Given the description of an element on the screen output the (x, y) to click on. 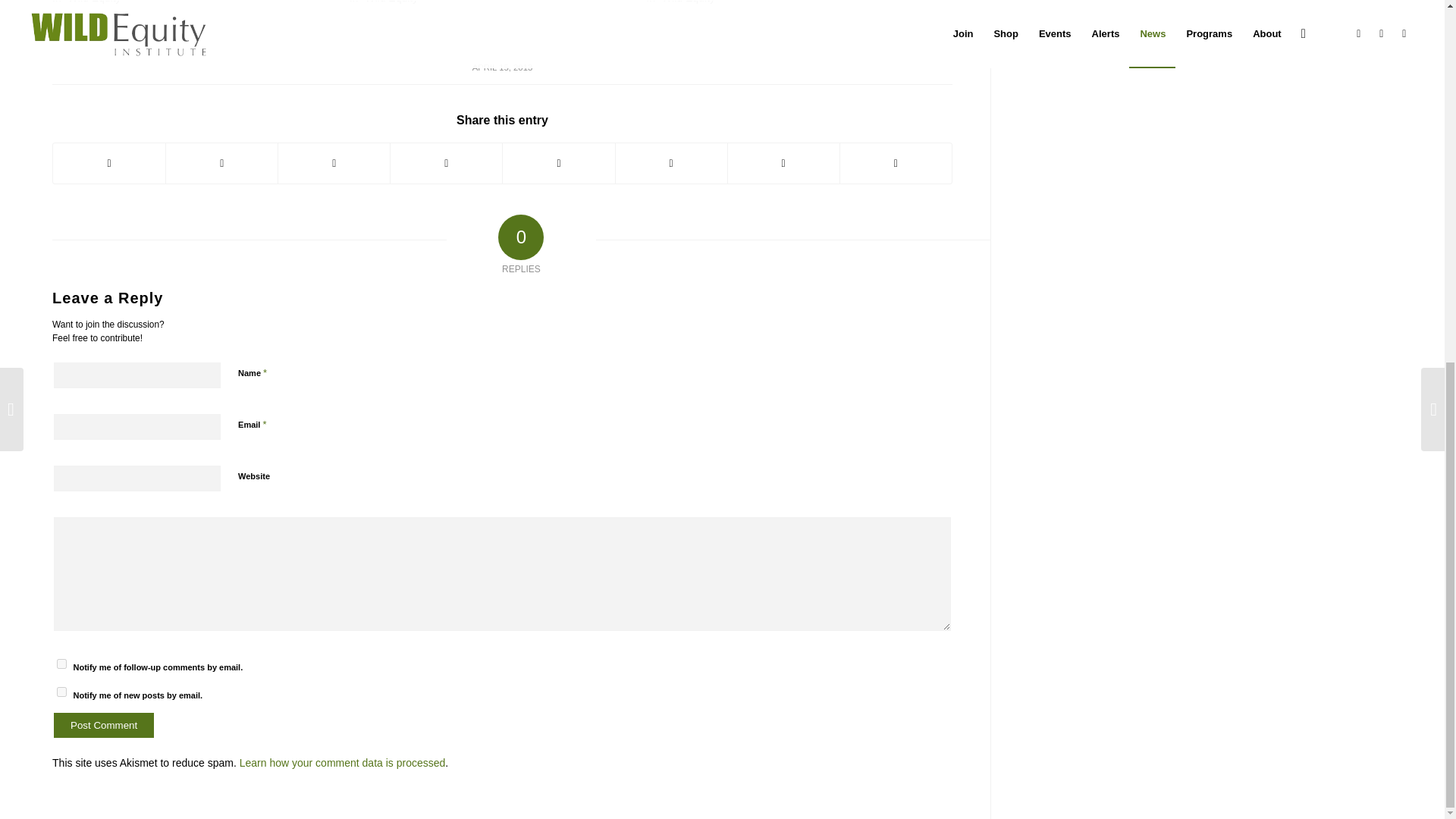
subscribe (61, 691)
subscribe (61, 664)
Post Comment (103, 724)
